Given the description of an element on the screen output the (x, y) to click on. 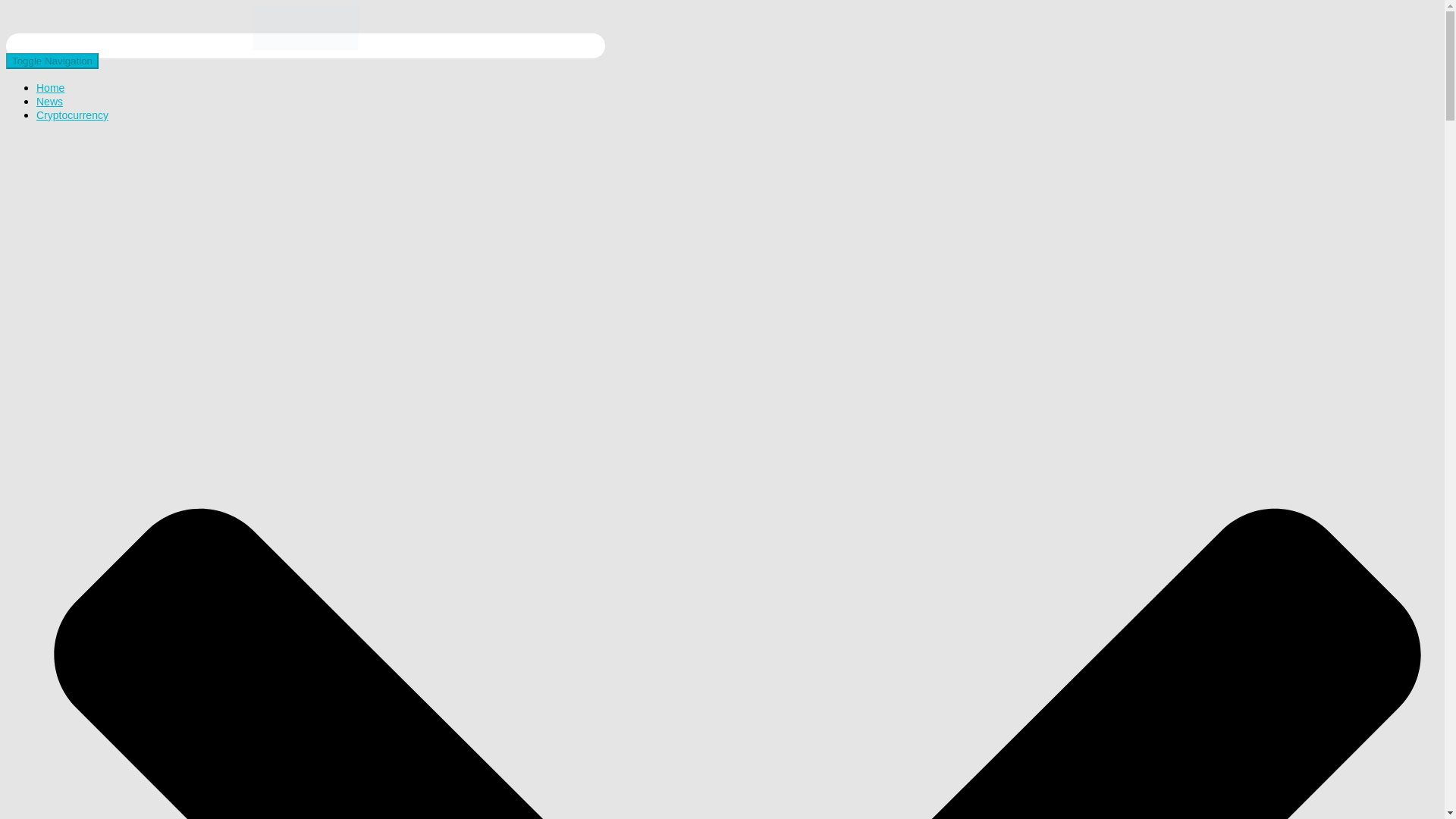
News (49, 101)
News (49, 101)
Home (50, 87)
Toggle Navigation (52, 60)
Cyber Flows (305, 45)
Home (50, 87)
